Given the description of an element on the screen output the (x, y) to click on. 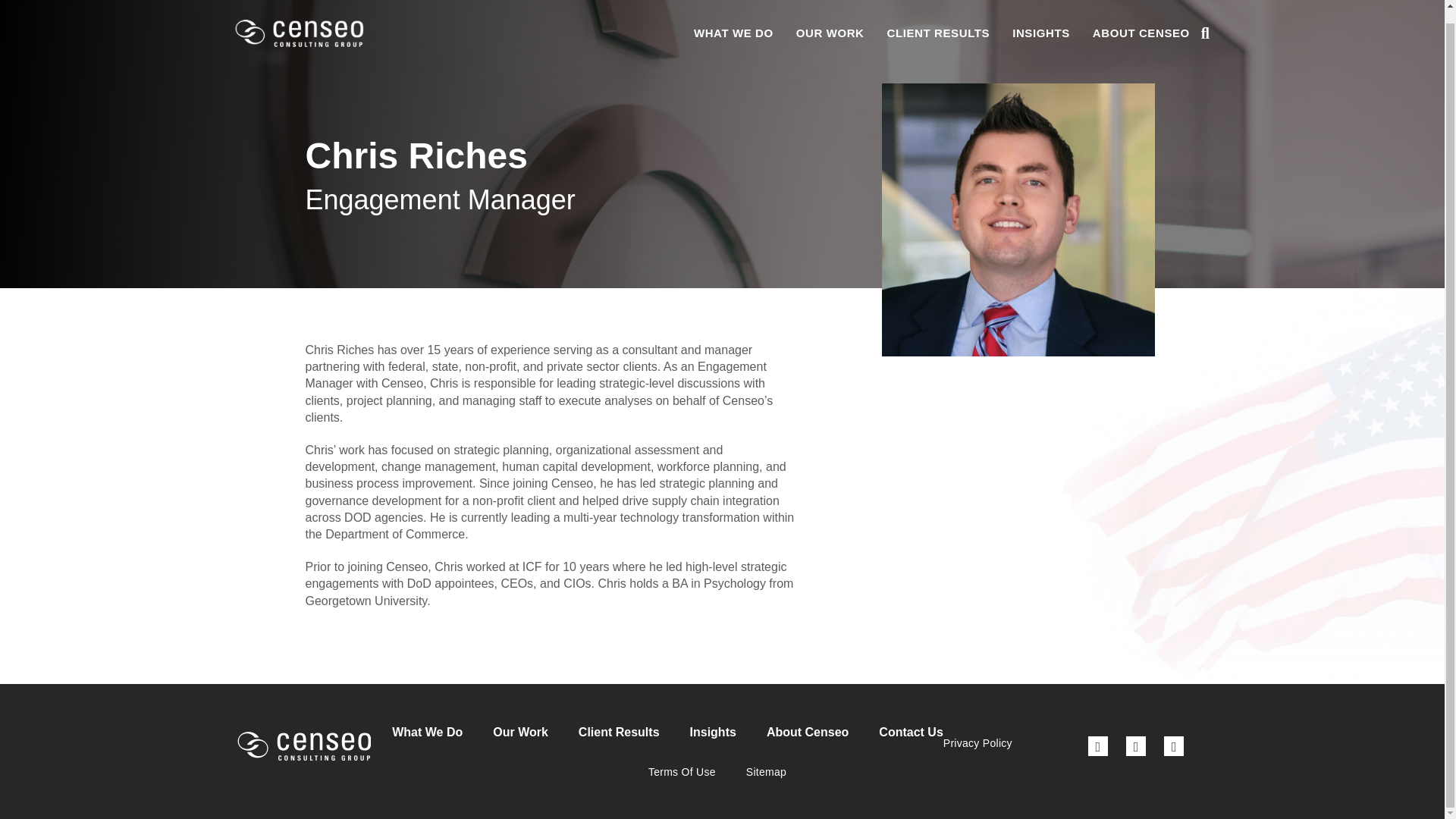
logo (302, 746)
Chris Riches (1017, 219)
